Given the description of an element on the screen output the (x, y) to click on. 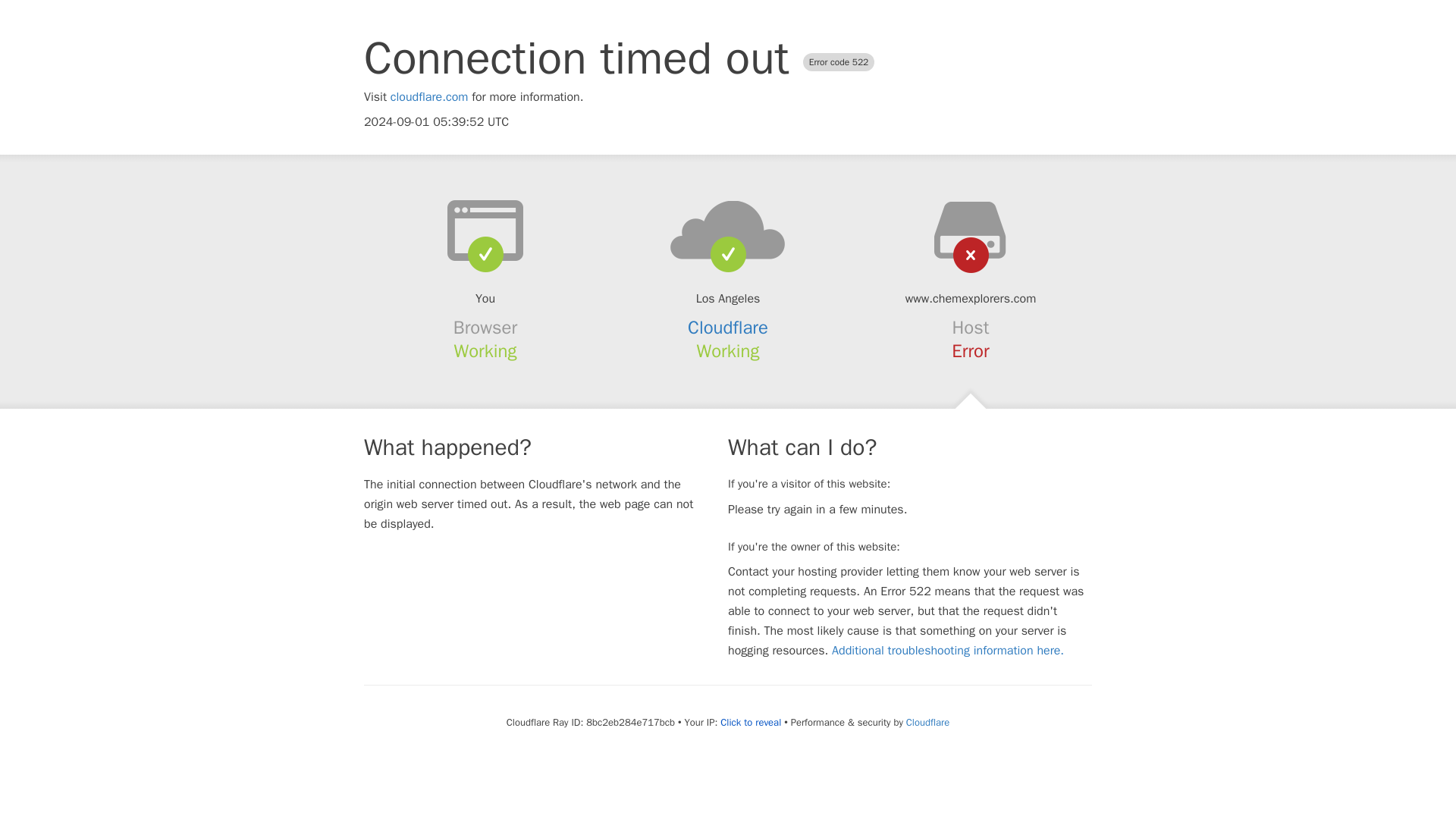
Additional troubleshooting information here. (947, 650)
Cloudflare (927, 721)
cloudflare.com (429, 96)
Cloudflare (727, 327)
Click to reveal (750, 722)
